Given the description of an element on the screen output the (x, y) to click on. 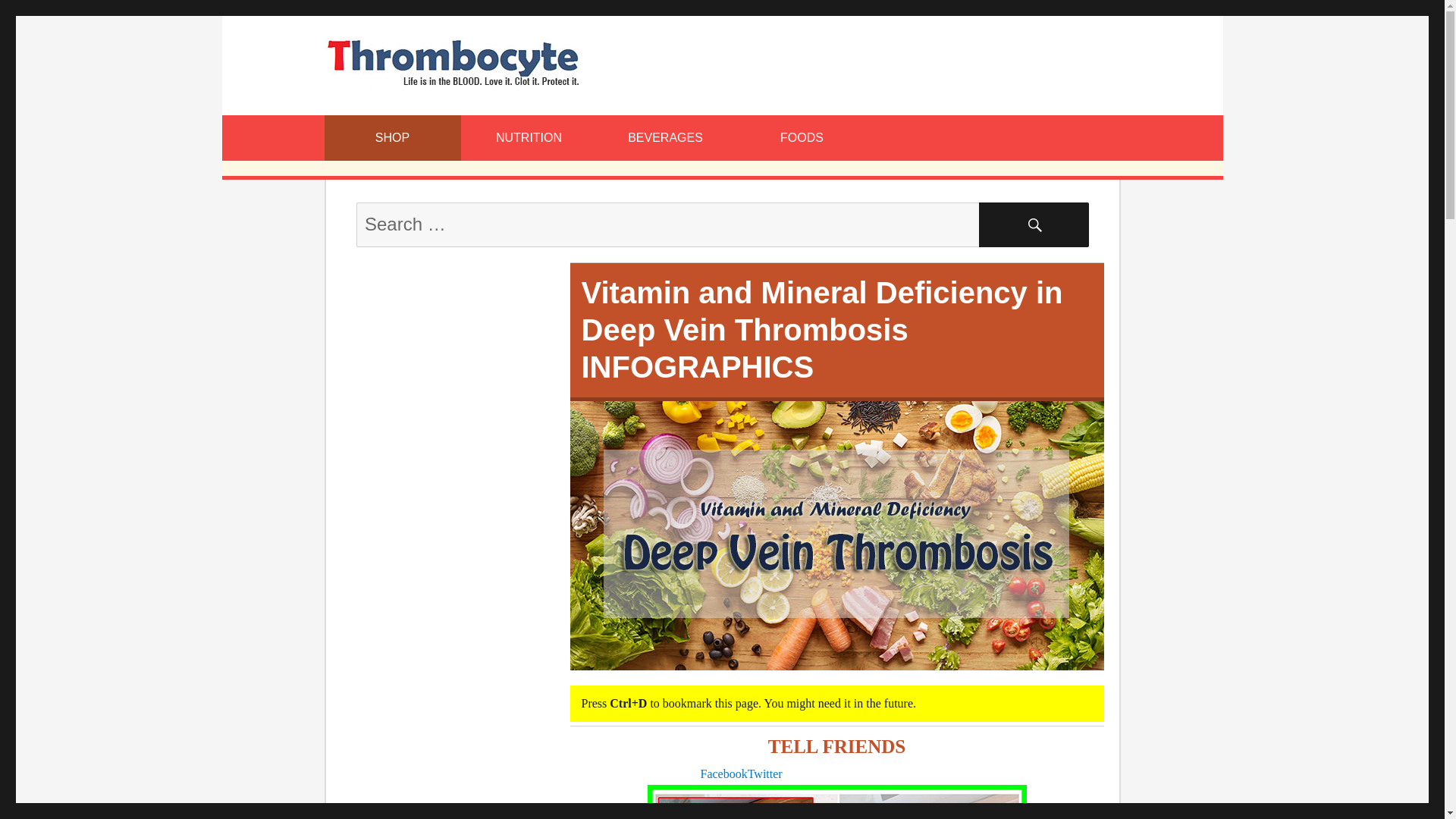
Food and Nutrition Website (453, 60)
NUTRITION (528, 137)
Facebook (724, 773)
FOODS (801, 137)
BEVERAGES (664, 137)
SHOP (392, 137)
Twitter (765, 773)
SEARCH (1033, 224)
